Given the description of an element on the screen output the (x, y) to click on. 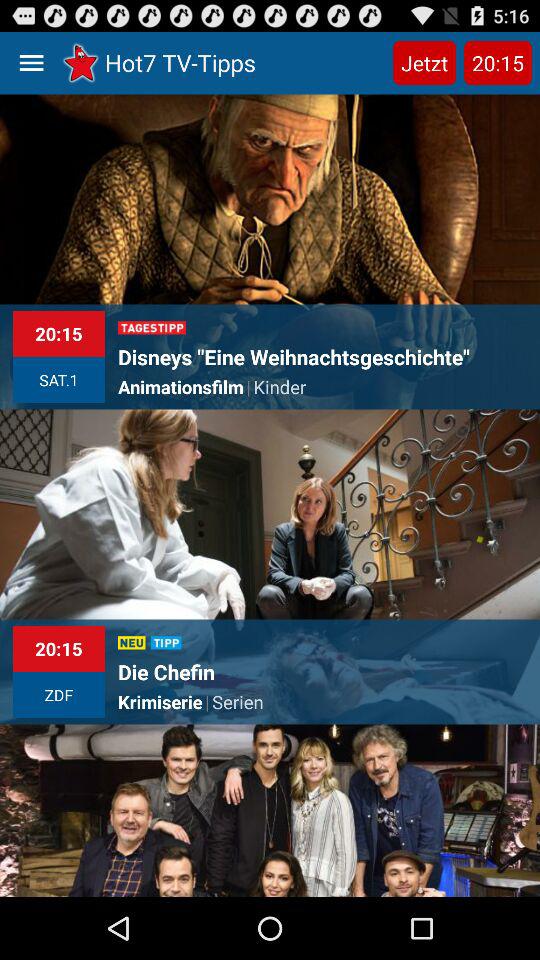
open the button to the left of the 20:15 item (424, 62)
